Given the description of an element on the screen output the (x, y) to click on. 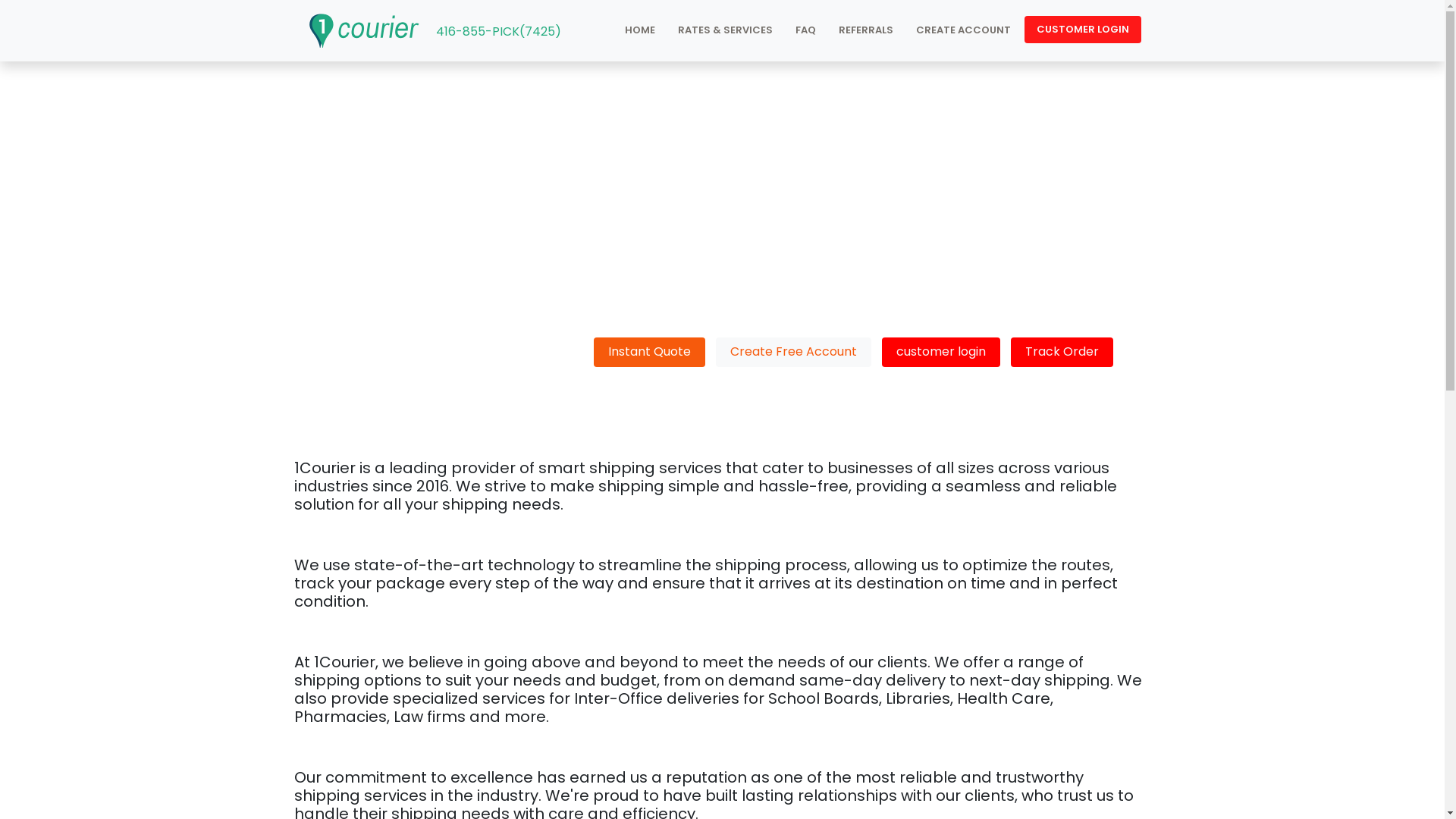
CREATE ACCOUNT Element type: text (962, 30)
customer login Element type: text (940, 352)
FAQ Element type: text (805, 30)
416-855-PICK(7425) Element type: text (497, 31)
CUSTOMER LOGIN Element type: text (1081, 29)
REFERRALS Element type: text (864, 30)
HOME Element type: text (638, 30)
RATES & SERVICES Element type: text (724, 30)
Instant Quote Element type: text (648, 352)
Track Order Element type: text (1061, 352)
Create Free Account Element type: text (793, 352)
